Given the description of an element on the screen output the (x, y) to click on. 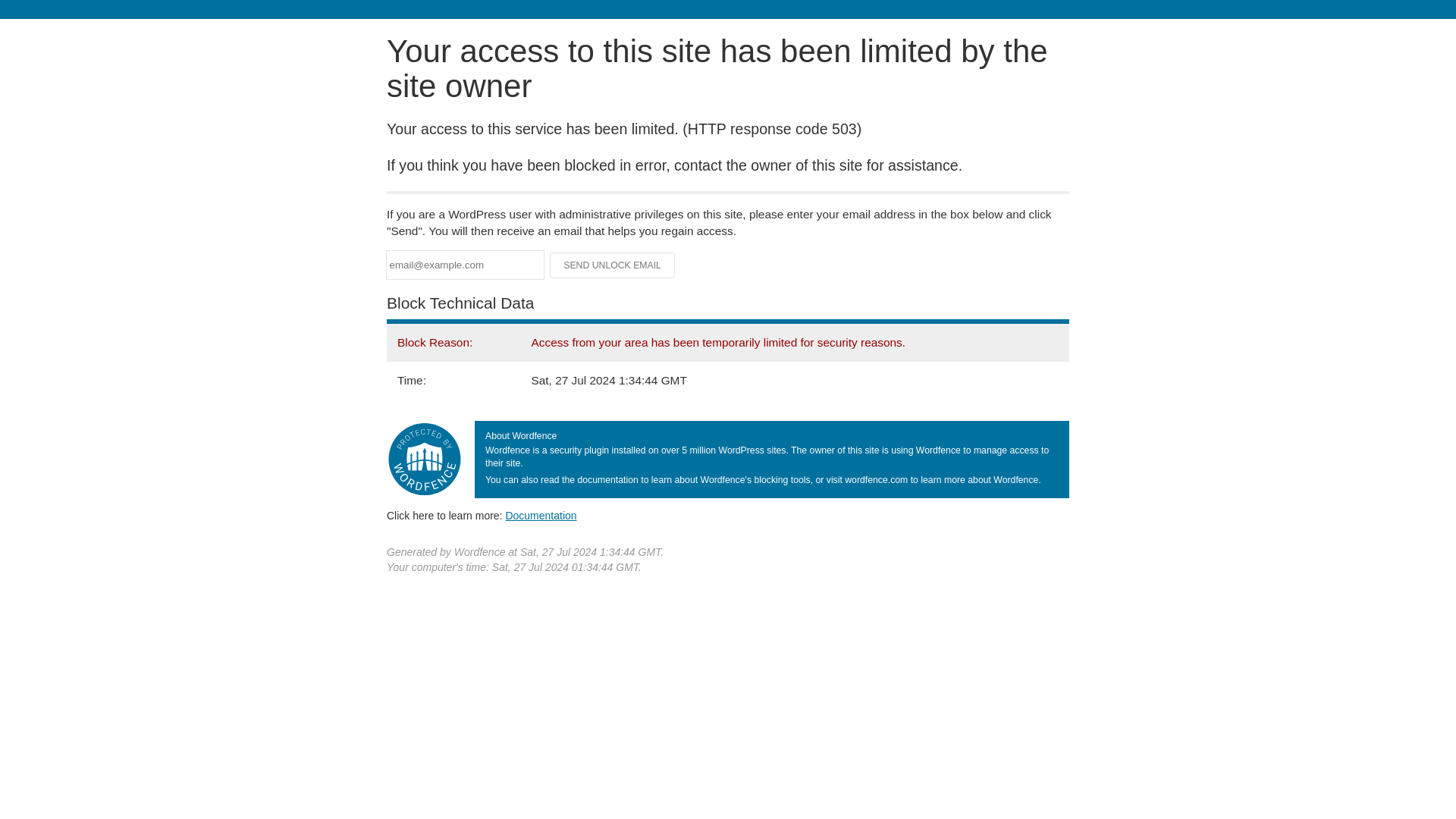
Send Unlock Email (612, 265)
Documentation (540, 515)
Send Unlock Email (612, 265)
